Given the description of an element on the screen output the (x, y) to click on. 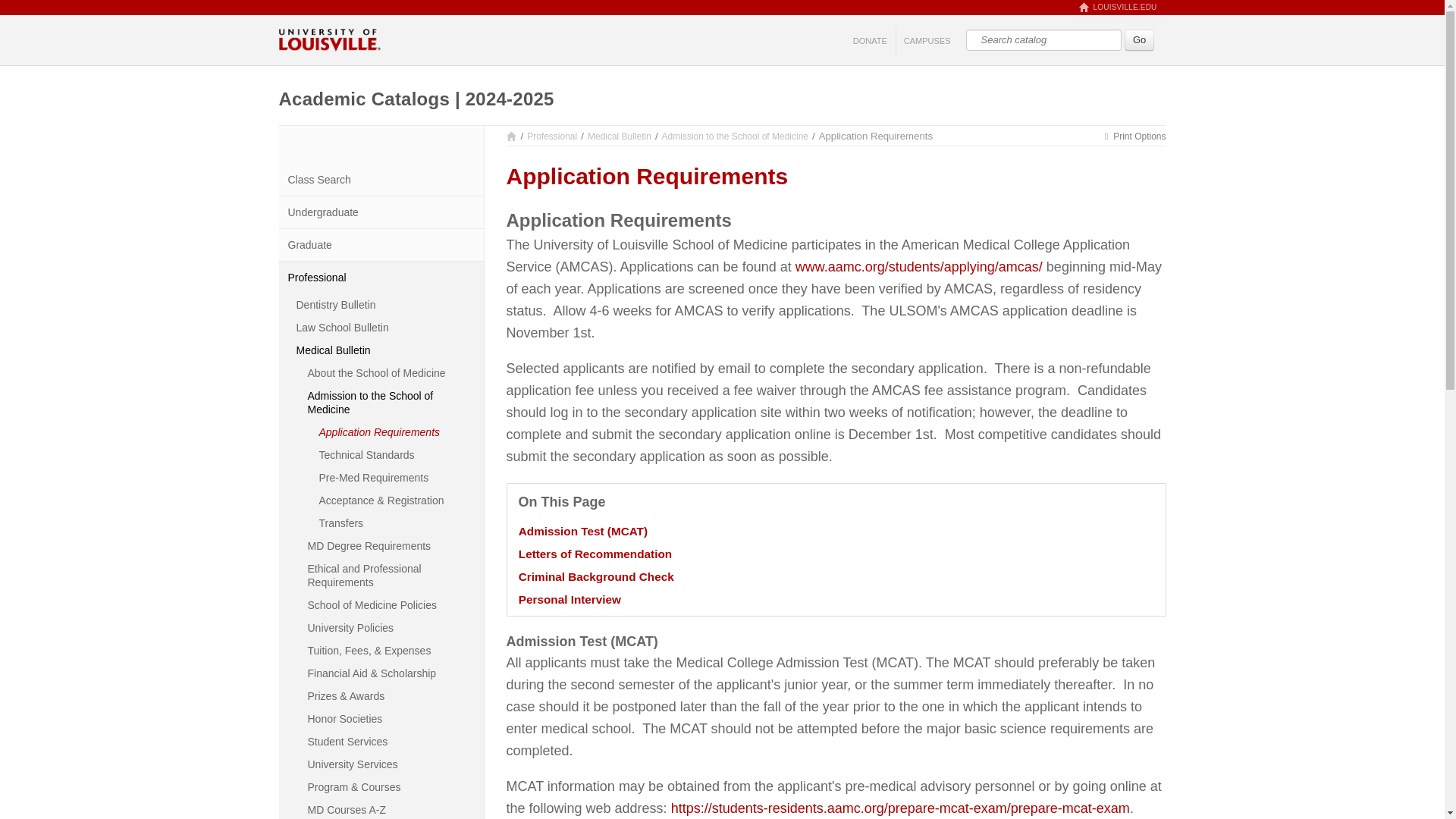
Undergraduate (381, 212)
Application Requirements (398, 431)
DONATE (870, 41)
Class Search (381, 179)
Professional (381, 277)
Professional (551, 136)
Law School Bulletin (386, 327)
Transfers (398, 522)
About the School of Medicine (392, 372)
Search Catalog (1043, 39)
Honor Societies (392, 718)
Catalog Home (511, 136)
MD Degree Requirements (392, 545)
CAMPUSES (927, 41)
Pre-Med Requirements (398, 477)
